Given the description of an element on the screen output the (x, y) to click on. 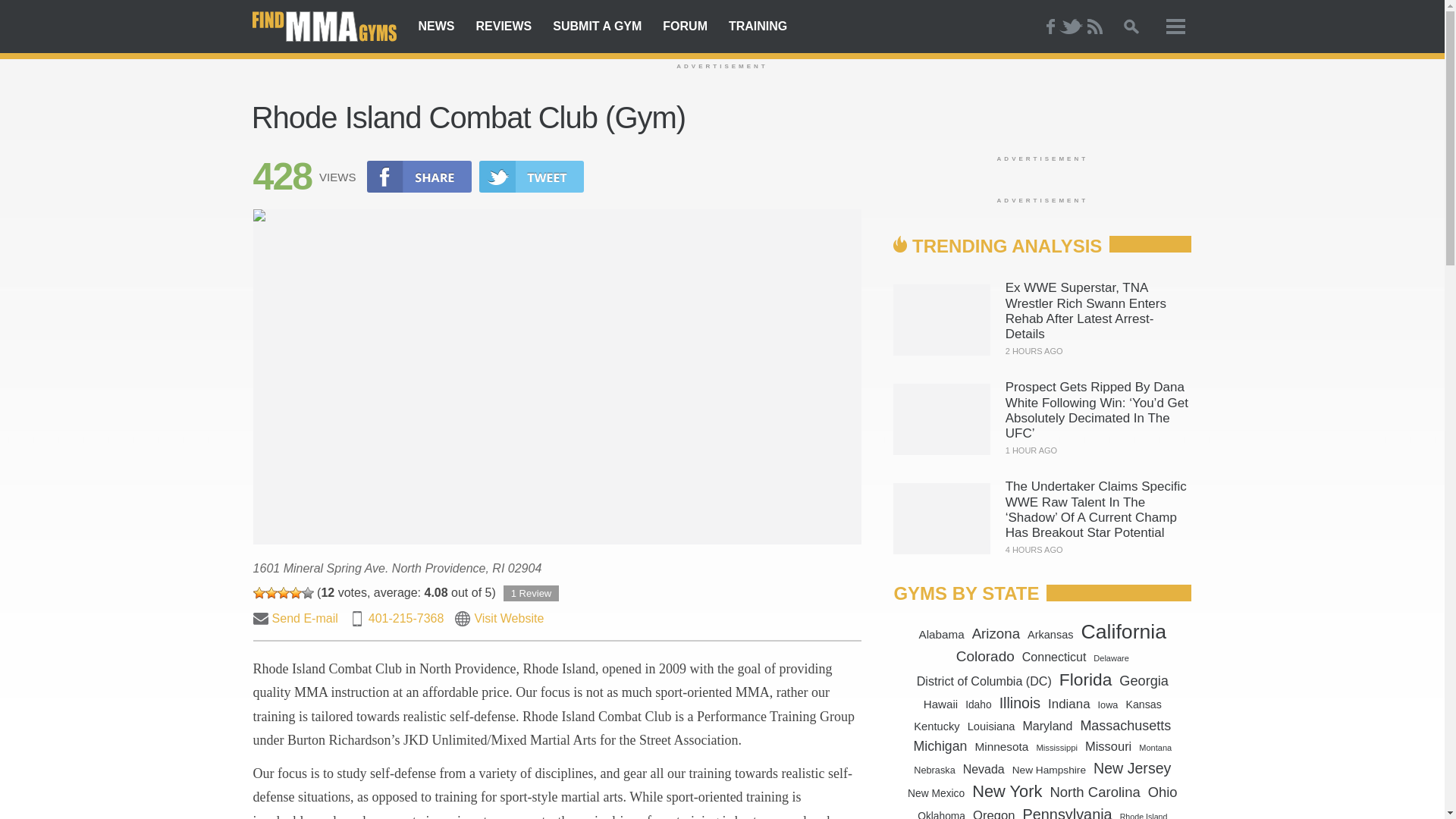
REVIEWS (504, 26)
Find MMA Gyms (323, 26)
TWEET (531, 176)
1601 Mineral Spring Ave. North Providence, RI 02904 (397, 567)
RSS (1094, 26)
SUBMIT A GYM (596, 26)
SHARE (418, 176)
TRAINING (757, 26)
Twitter (1069, 26)
1 Review (531, 593)
